Given the description of an element on the screen output the (x, y) to click on. 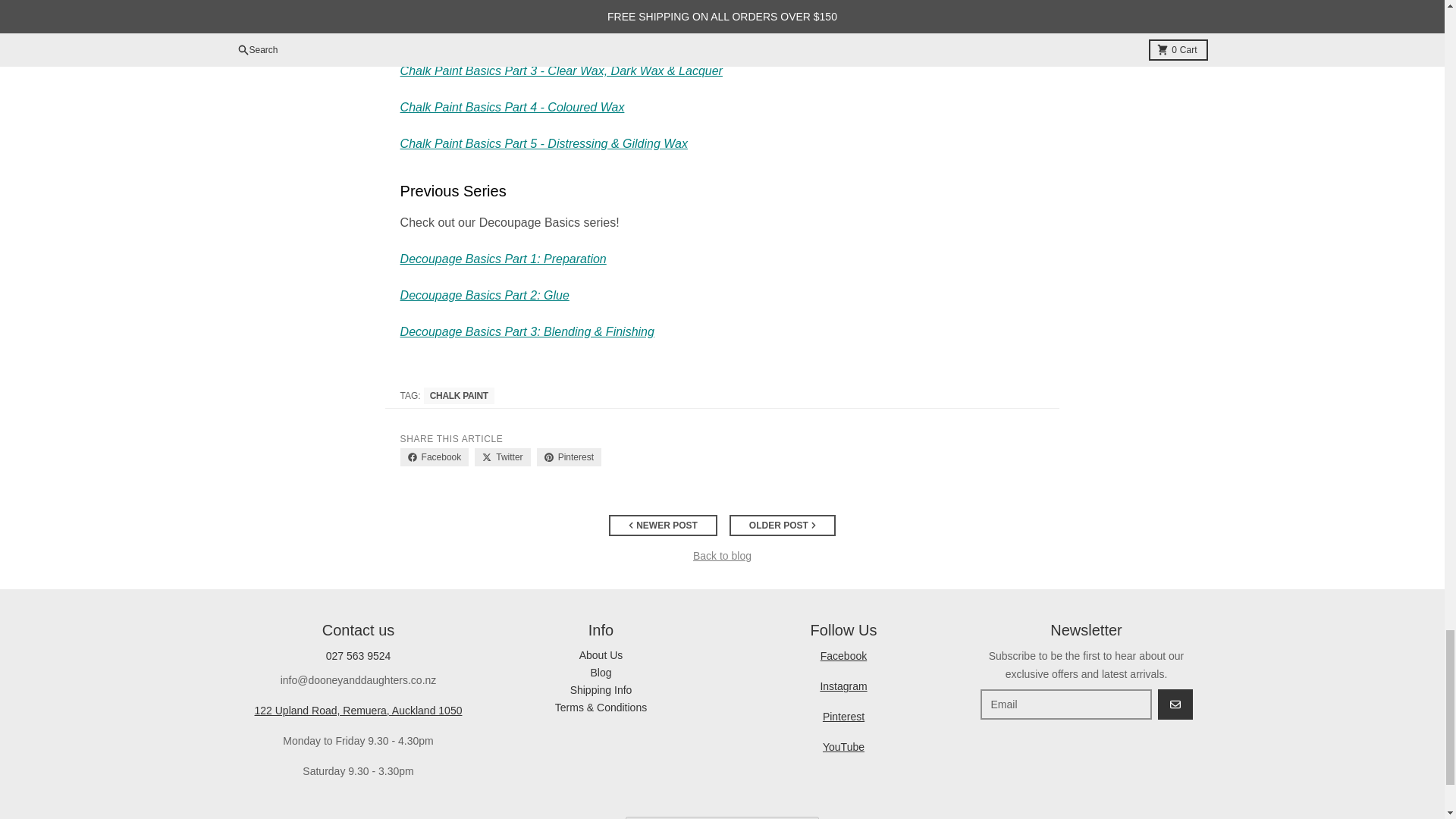
Decoupage Basics Part 2: Glue (484, 295)
Chalk Paint Basics Part 4 - Coloured Wax (512, 106)
Chalk Paint Basics Part 2 (520, 33)
Chalk Paint Basics Part 5 (543, 143)
Decoupage Basics Part 1: Preparation (503, 258)
